Given the description of an element on the screen output the (x, y) to click on. 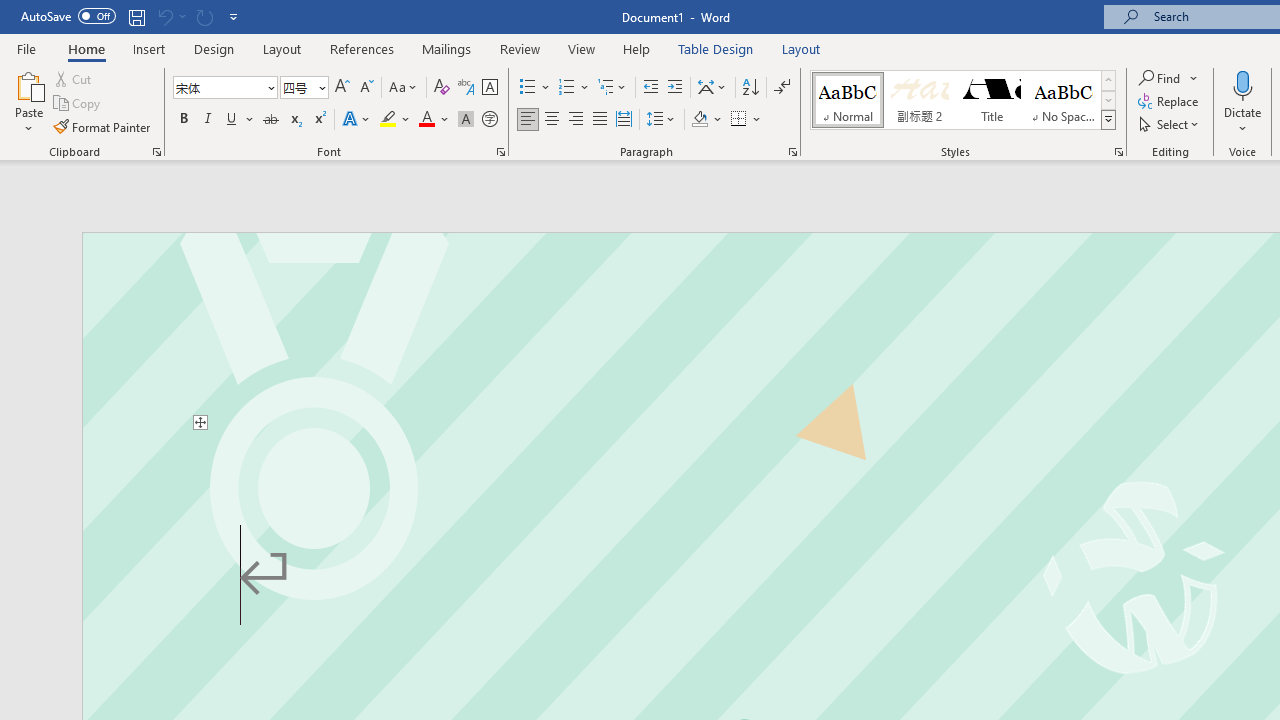
Can't Undo (164, 15)
